Given the description of an element on the screen output the (x, y) to click on. 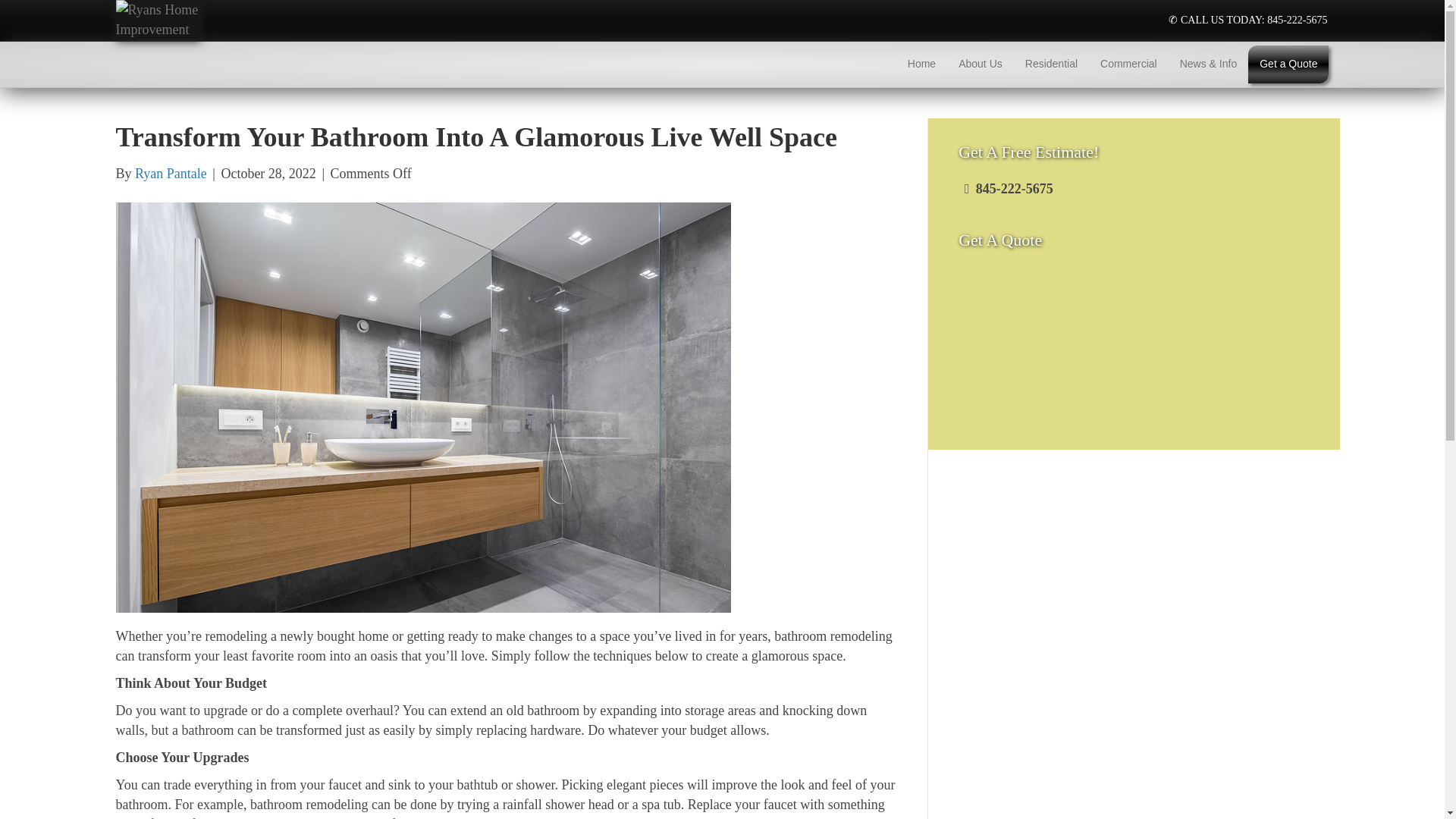
Commercial (1129, 64)
About Us (980, 64)
Home (921, 64)
Ryan Pantale (170, 173)
Residential (1051, 64)
Get a Quote (1287, 64)
